Given the description of an element on the screen output the (x, y) to click on. 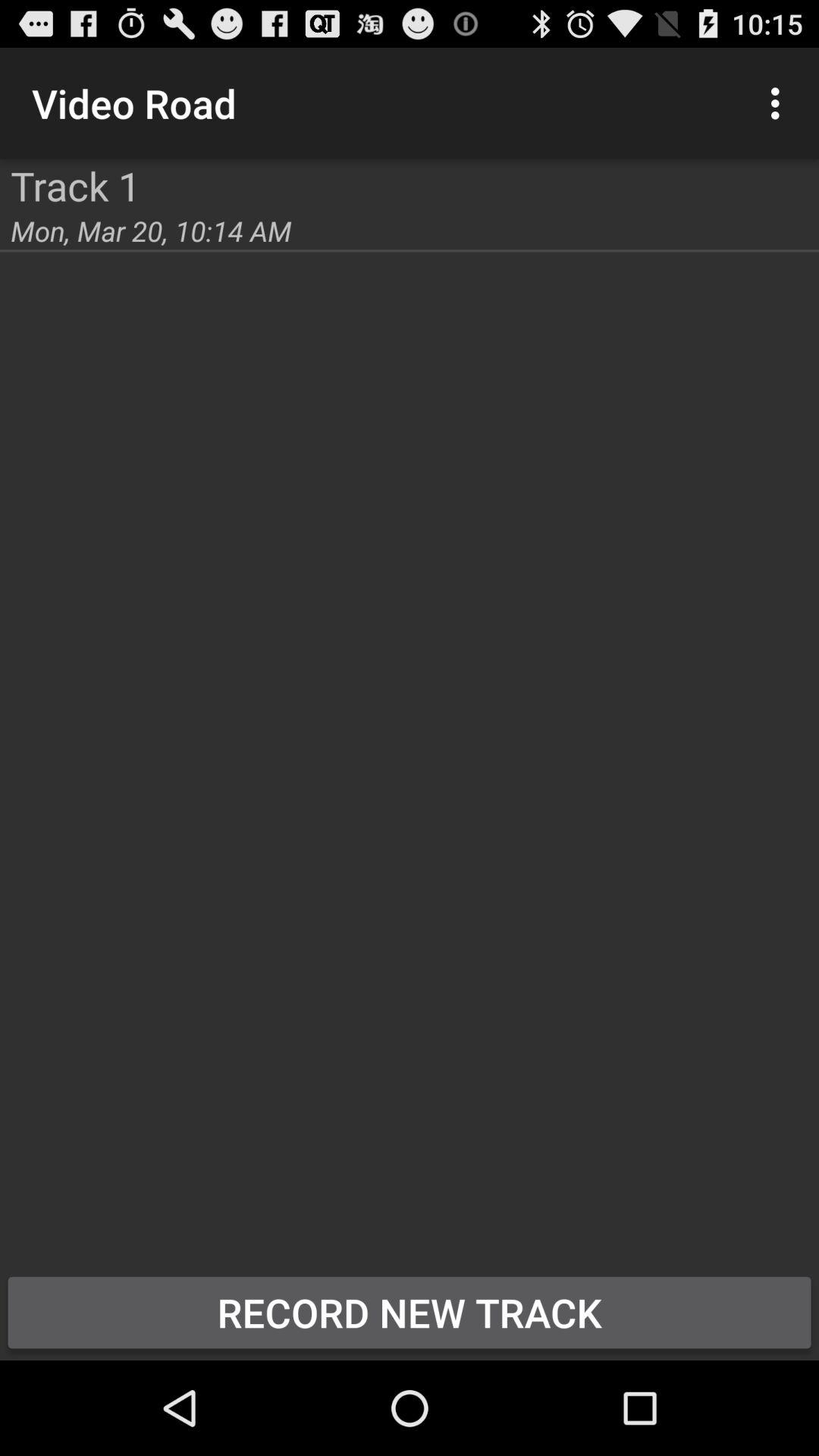
click button above record new track item (779, 103)
